Given the description of an element on the screen output the (x, y) to click on. 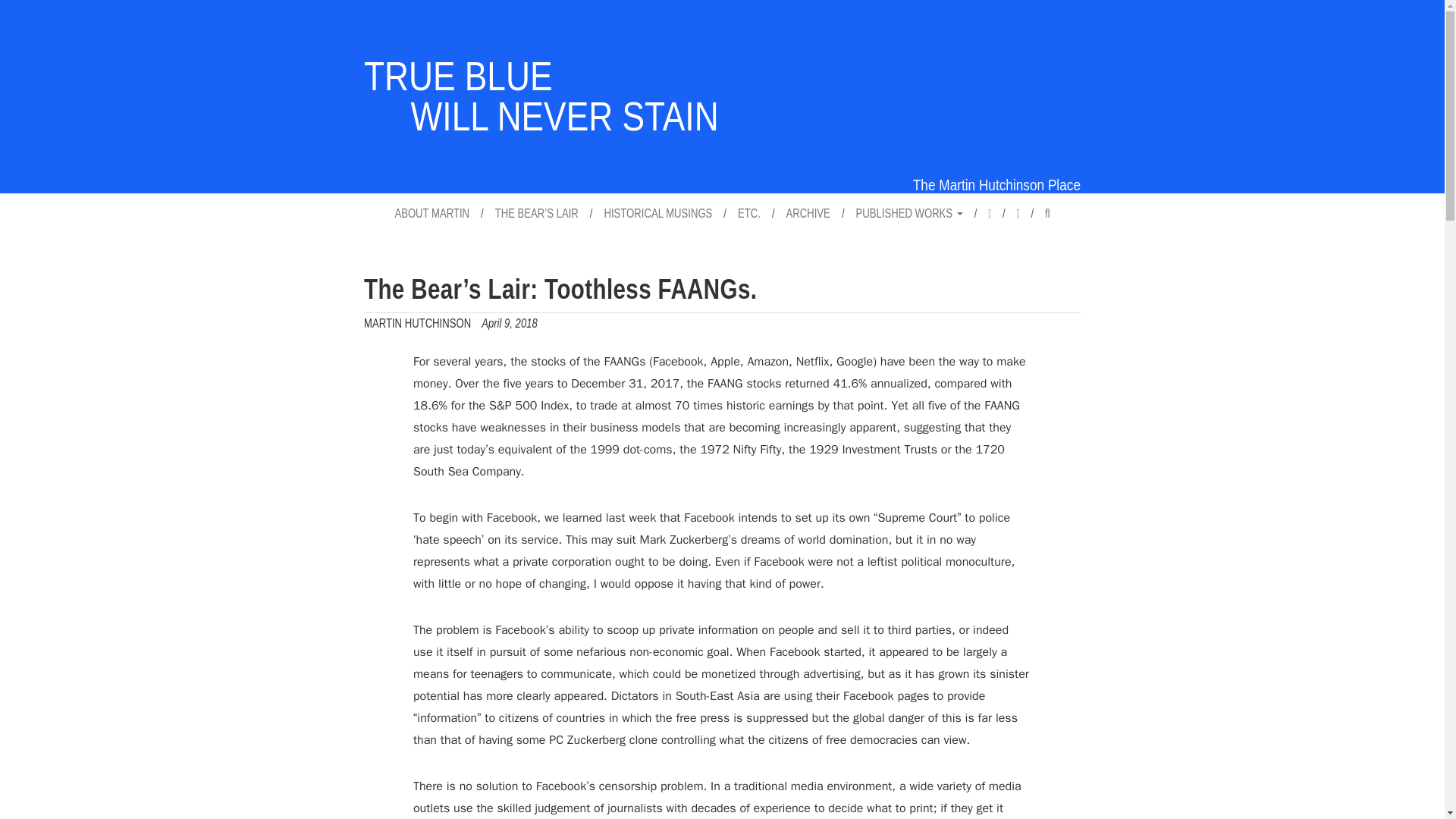
ARCHIVE (807, 212)
ETC. (748, 212)
ABOUT MARTIN (431, 212)
View all posts by Martin Hutchinson (417, 323)
True Blue Will Never Stain (541, 94)
PUBLISHED WORKS (909, 212)
MARTIN HUTCHINSON (541, 94)
HISTORICAL MUSINGS (417, 323)
